Given the description of an element on the screen output the (x, y) to click on. 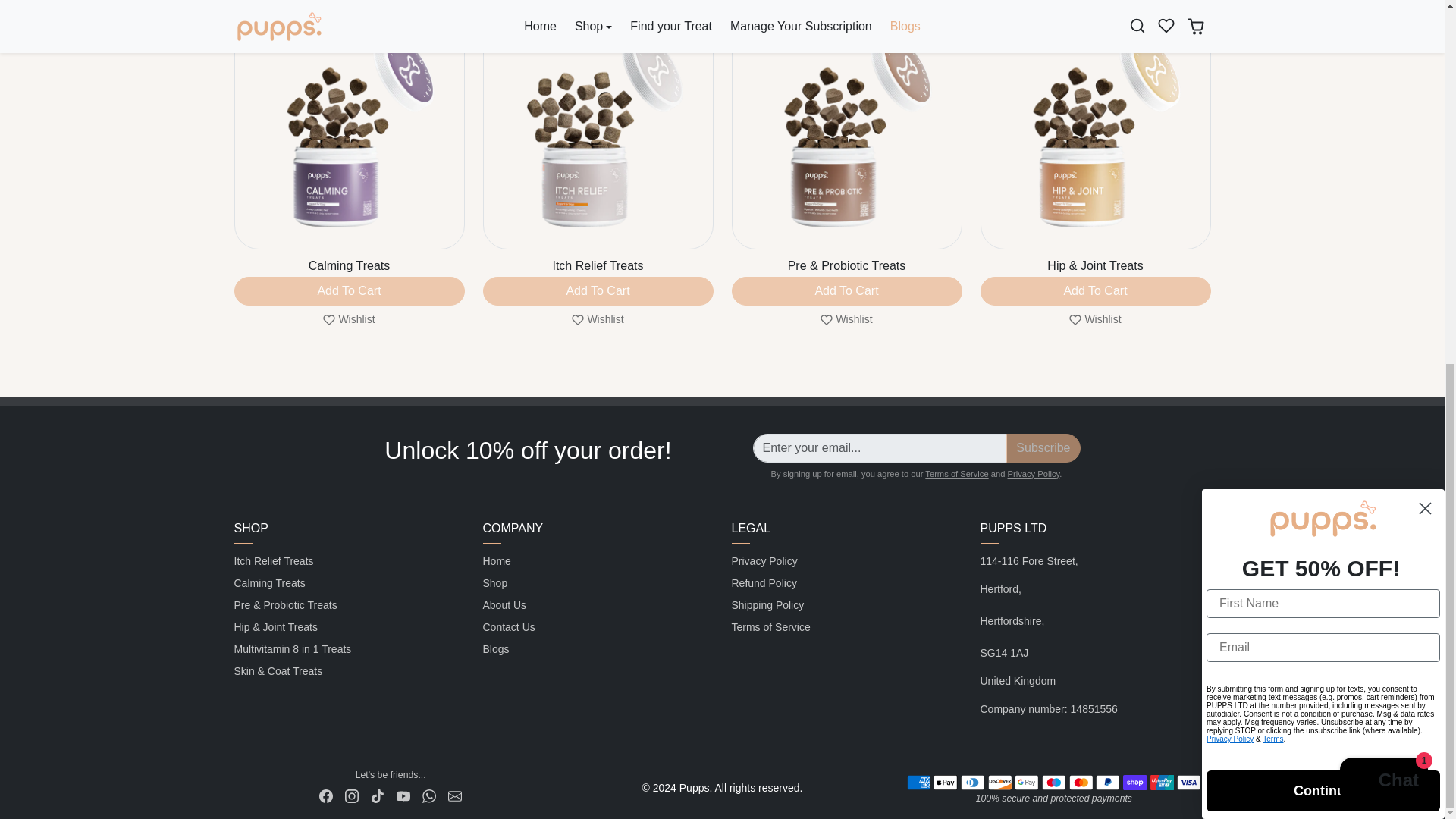
Google Pay (1026, 782)
Diners Club (972, 782)
Shopify online store chat (1383, 129)
American Express (918, 782)
Apple Pay (945, 782)
Discover (999, 782)
Maestro (1053, 782)
